Given the description of an element on the screen output the (x, y) to click on. 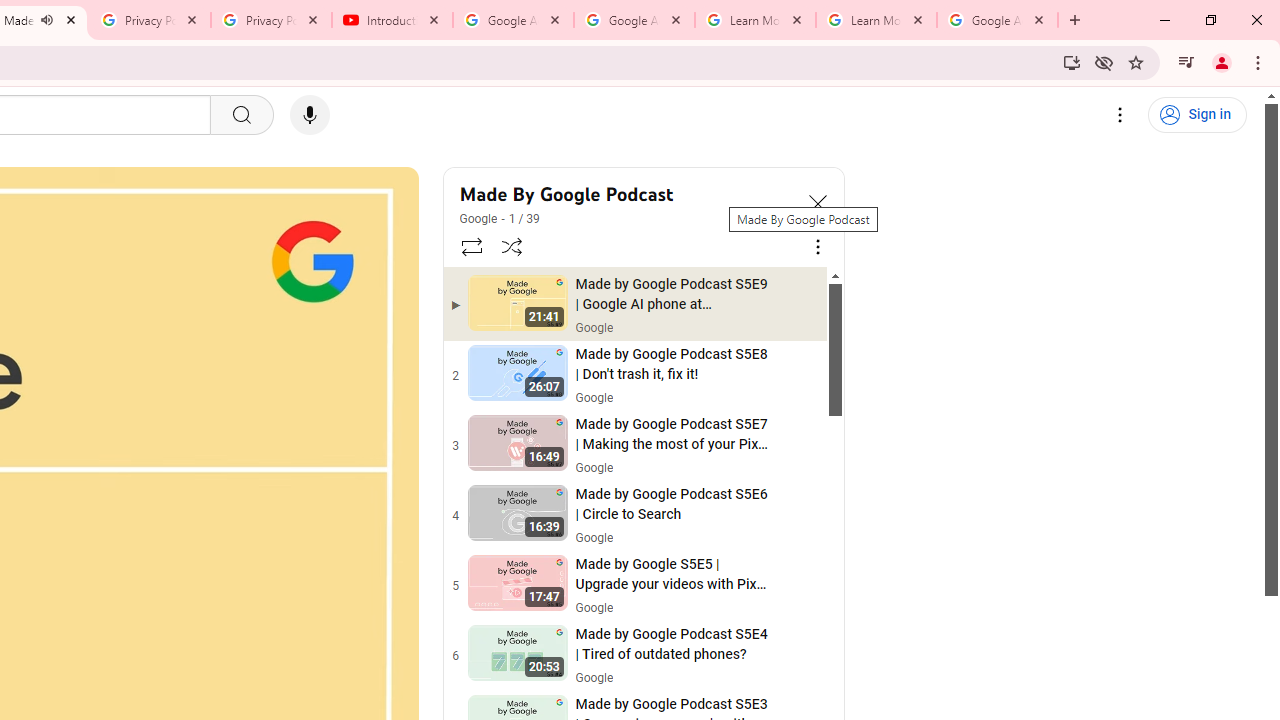
Search with your voice (309, 115)
Shuffle playlist (511, 246)
